Given the description of an element on the screen output the (x, y) to click on. 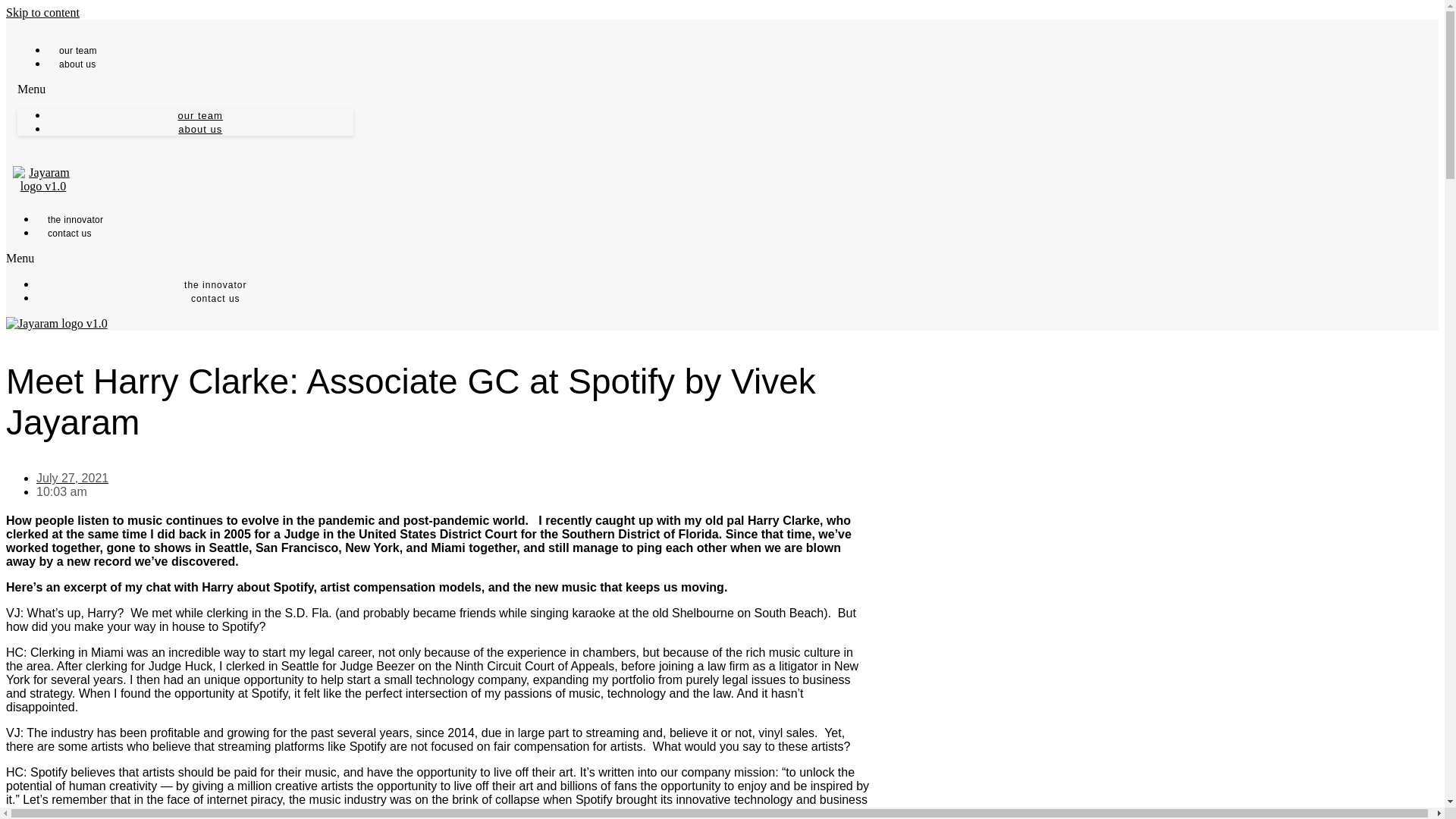
our team (199, 115)
July 27, 2021 (71, 477)
about us (199, 129)
Skip to content (42, 11)
our team (77, 50)
contact us (69, 233)
about us (77, 63)
Jayaram logo v1.0 (56, 323)
Jayaram logo v1.0 (43, 179)
the innovator (215, 285)
